Given the description of an element on the screen output the (x, y) to click on. 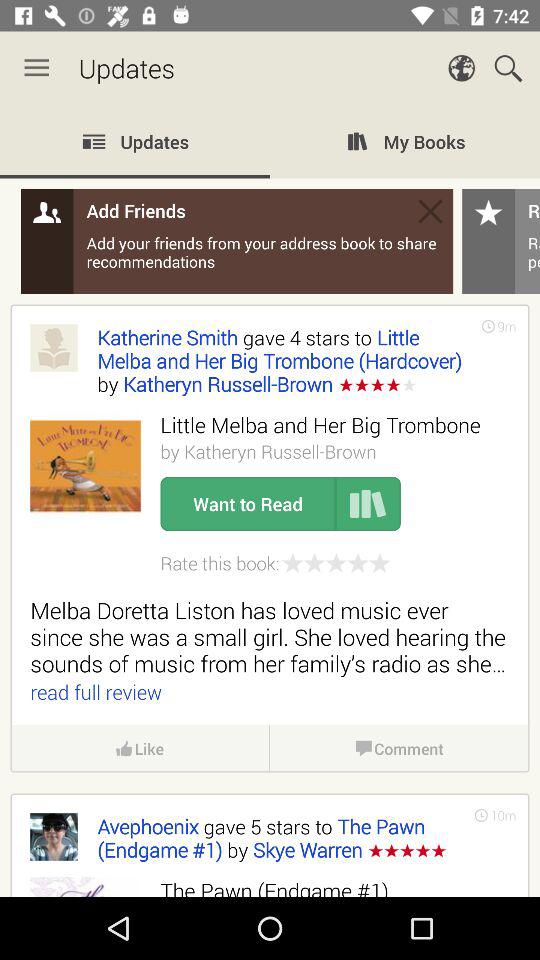
jump until the katherine smith gave item (279, 360)
